Given the description of an element on the screen output the (x, y) to click on. 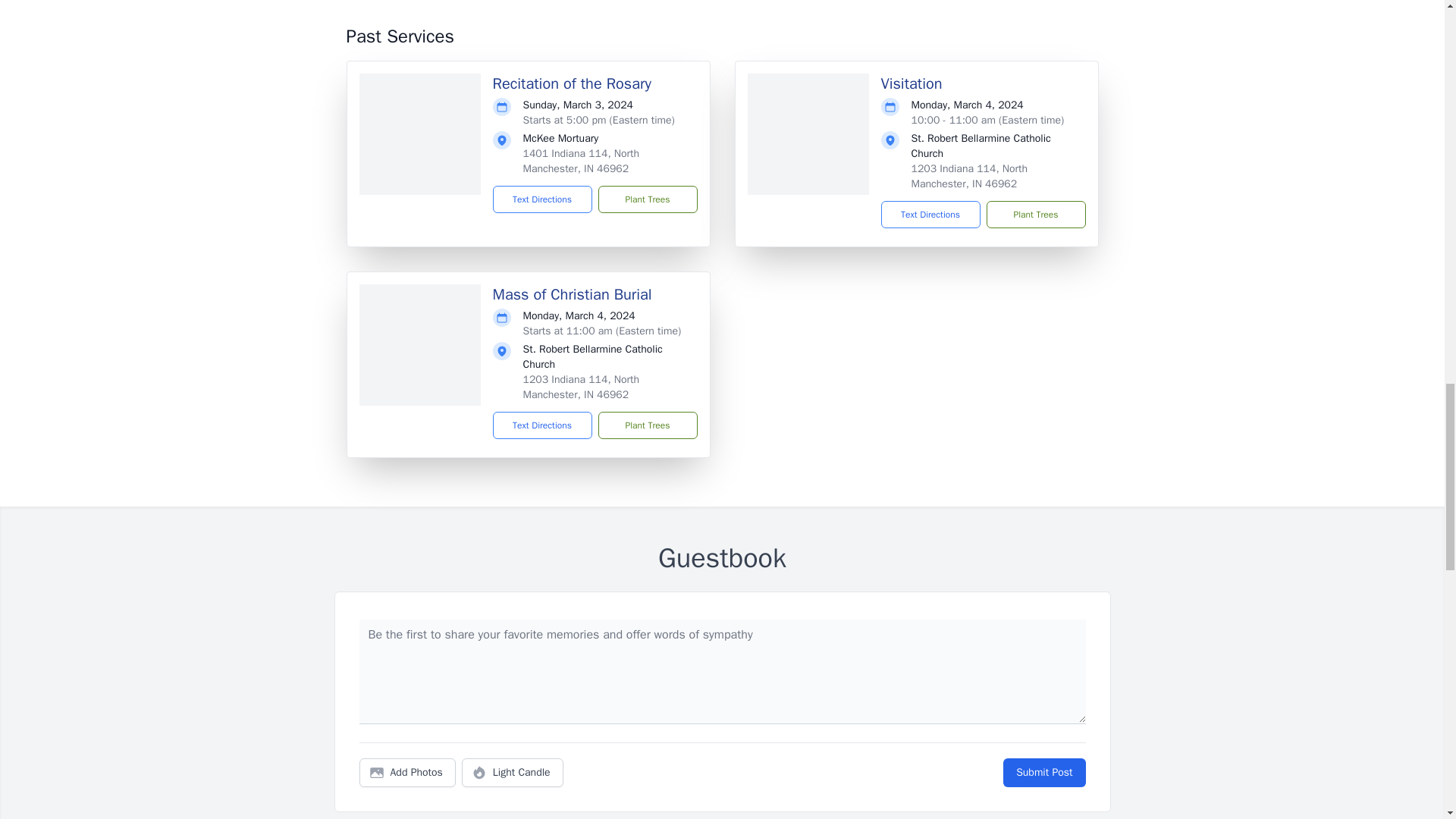
Plant Trees (1034, 214)
Text Directions (929, 214)
Plant Trees (646, 424)
Light Candle (512, 772)
1203 Indiana 114, North Manchester, IN 46962 (581, 387)
Text Directions (542, 198)
1203 Indiana 114, North Manchester, IN 46962 (969, 176)
Submit Post (1043, 772)
Plant Trees (646, 198)
Text Directions (542, 424)
